Given the description of an element on the screen output the (x, y) to click on. 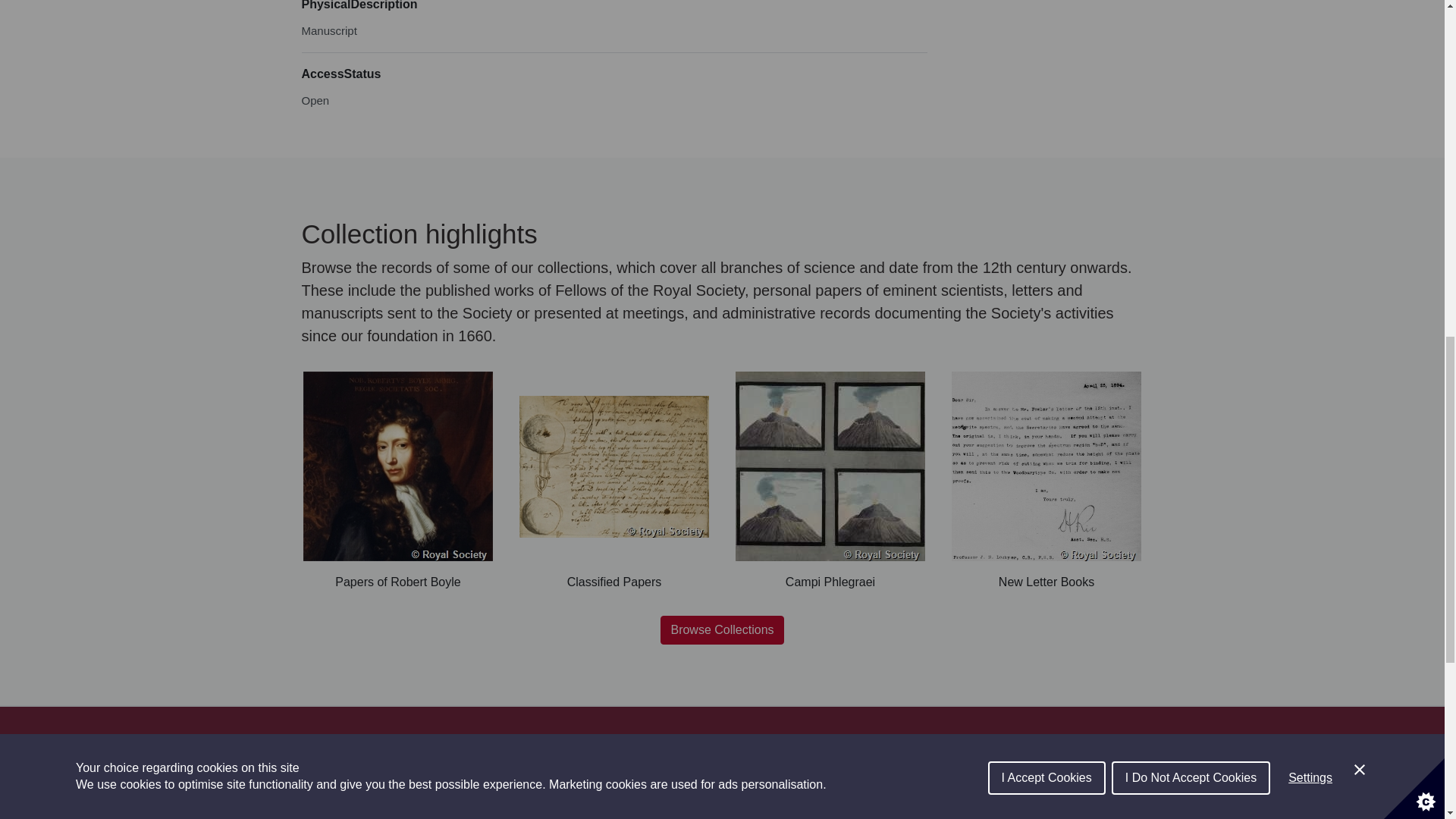
I Do Not Accept Cookies (1190, 9)
I Accept Cookies (1046, 17)
Privacy Policy (392, 739)
Browse Collections (722, 629)
Sitemap (323, 739)
